Given the description of an element on the screen output the (x, y) to click on. 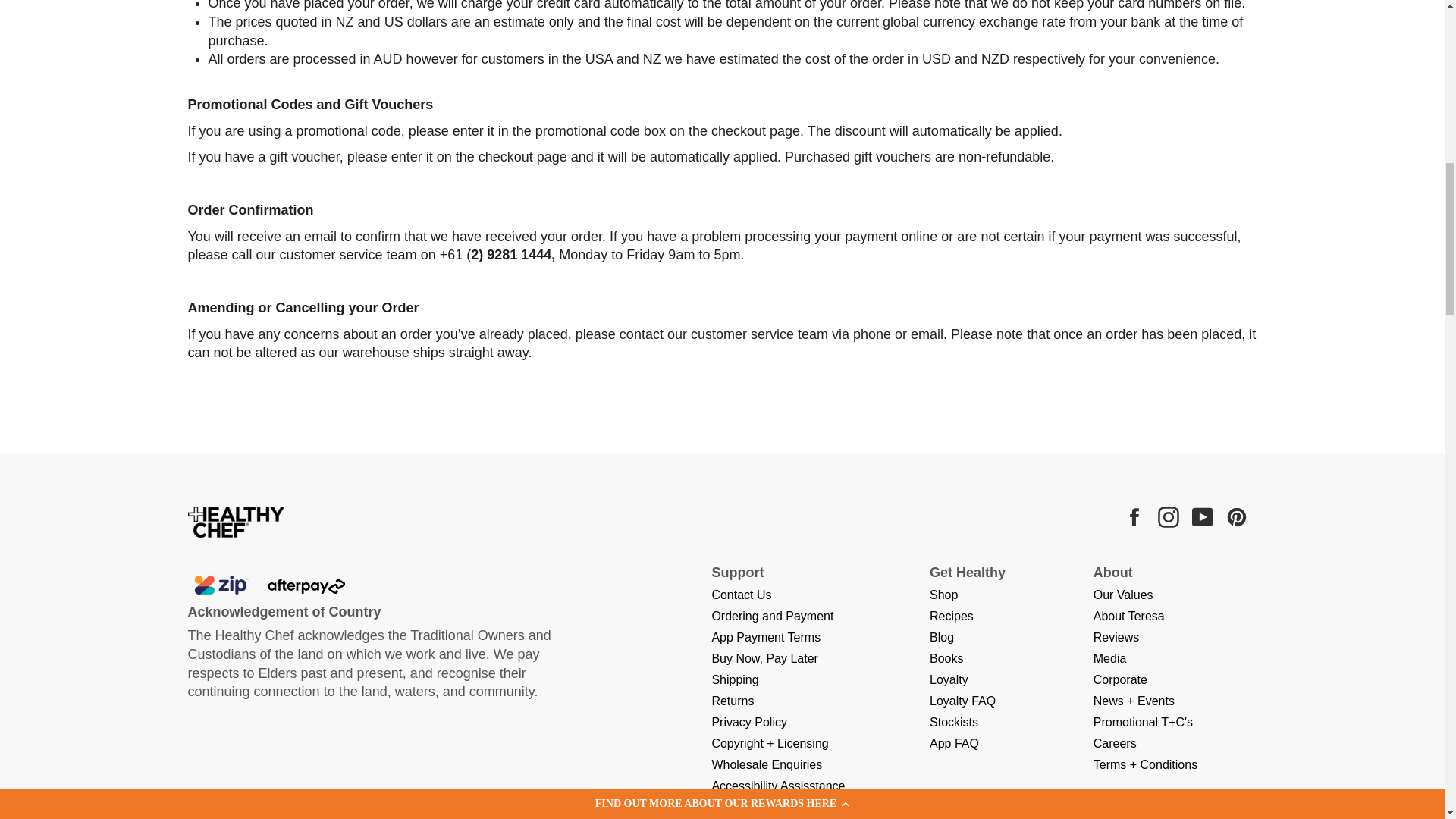
The Healthy Chef on Instagram (1169, 516)
The Healthy Chef on Pinterest (1237, 516)
The Healthy Chef on YouTube (1204, 516)
The Healthy Chef on Facebook (1136, 516)
